Given the description of an element on the screen output the (x, y) to click on. 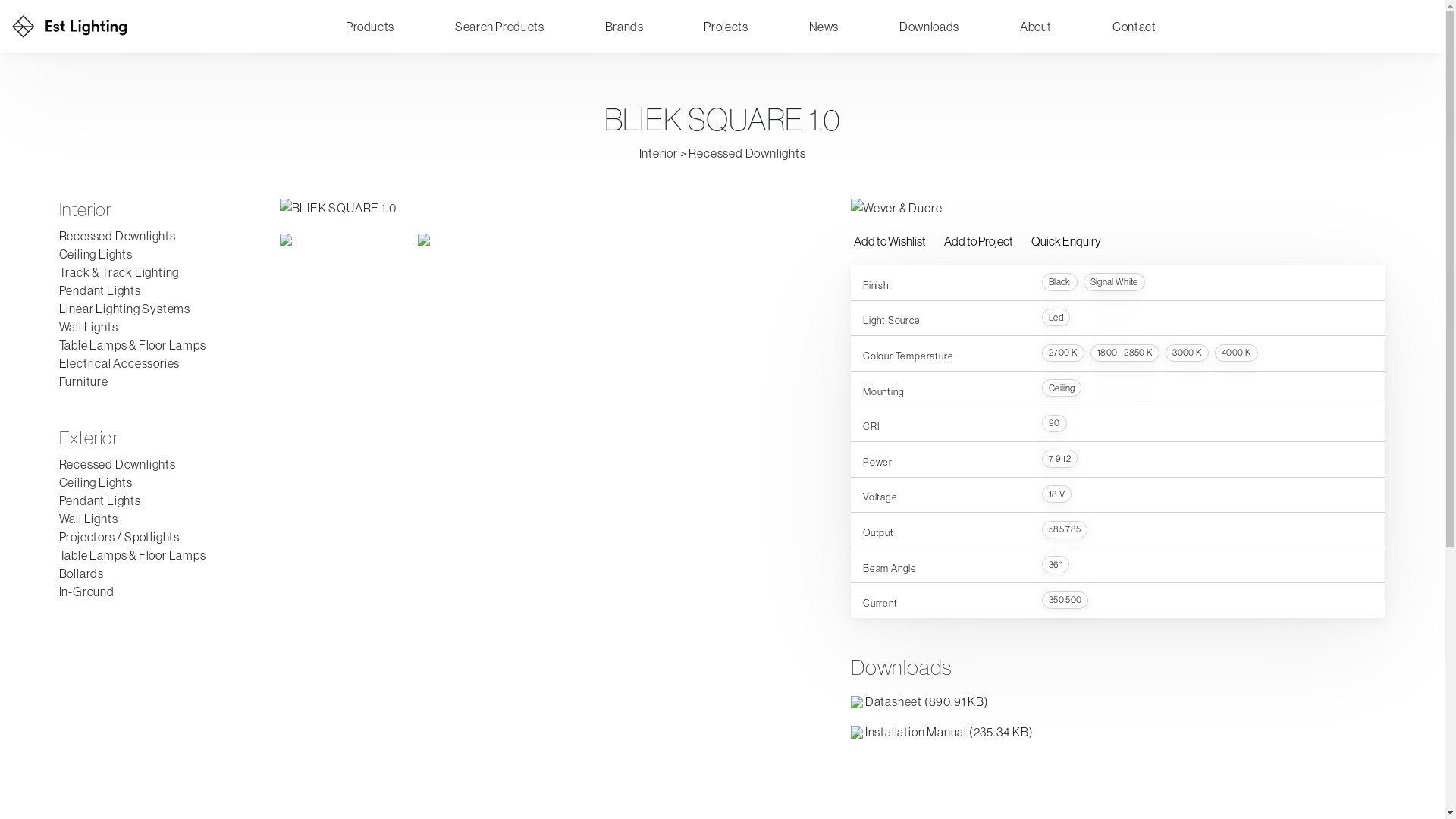
Electrical Accessories Element type: text (119, 362)
Ceiling Lights Element type: text (95, 253)
BLIEK SQUARE 1.0 Element type: hover (546, 207)
Products Element type: text (369, 26)
About Element type: text (1035, 26)
Pendant Lights Element type: text (100, 500)
Ceiling Lights Element type: text (95, 481)
Brands Element type: text (624, 26)
Downloads Element type: text (929, 26)
News Element type: text (824, 26)
Bollards Element type: text (81, 572)
Linear Lighting Systems Element type: text (124, 308)
Recessed Downlights Element type: text (117, 235)
Datasheet (890.91 KB) Element type: text (919, 701)
Contact Element type: text (1133, 26)
Table Lamps & Floor Lamps Element type: text (132, 344)
Projectors / Spotlights Element type: text (119, 536)
Track & Track Lighting Element type: text (119, 271)
Furniture Element type: text (83, 381)
In-Ground Element type: text (86, 591)
Projects Element type: text (725, 26)
Interior > Recessed Downlights Element type: text (721, 153)
Installation Manual (235.34 KB) Element type: text (941, 731)
Wall Lights Element type: text (88, 518)
Add to Wishlist Element type: text (889, 241)
Quick Enquiry Element type: text (1064, 241)
Search Products Element type: text (499, 26)
Wever & Ducre Element type: hover (895, 207)
Recessed Downlights Element type: text (117, 463)
Add to Project Element type: text (978, 241)
Wall Lights Element type: text (88, 326)
Table Lamps & Floor Lamps Element type: text (132, 554)
Pendant Lights Element type: text (100, 290)
